Given the description of an element on the screen output the (x, y) to click on. 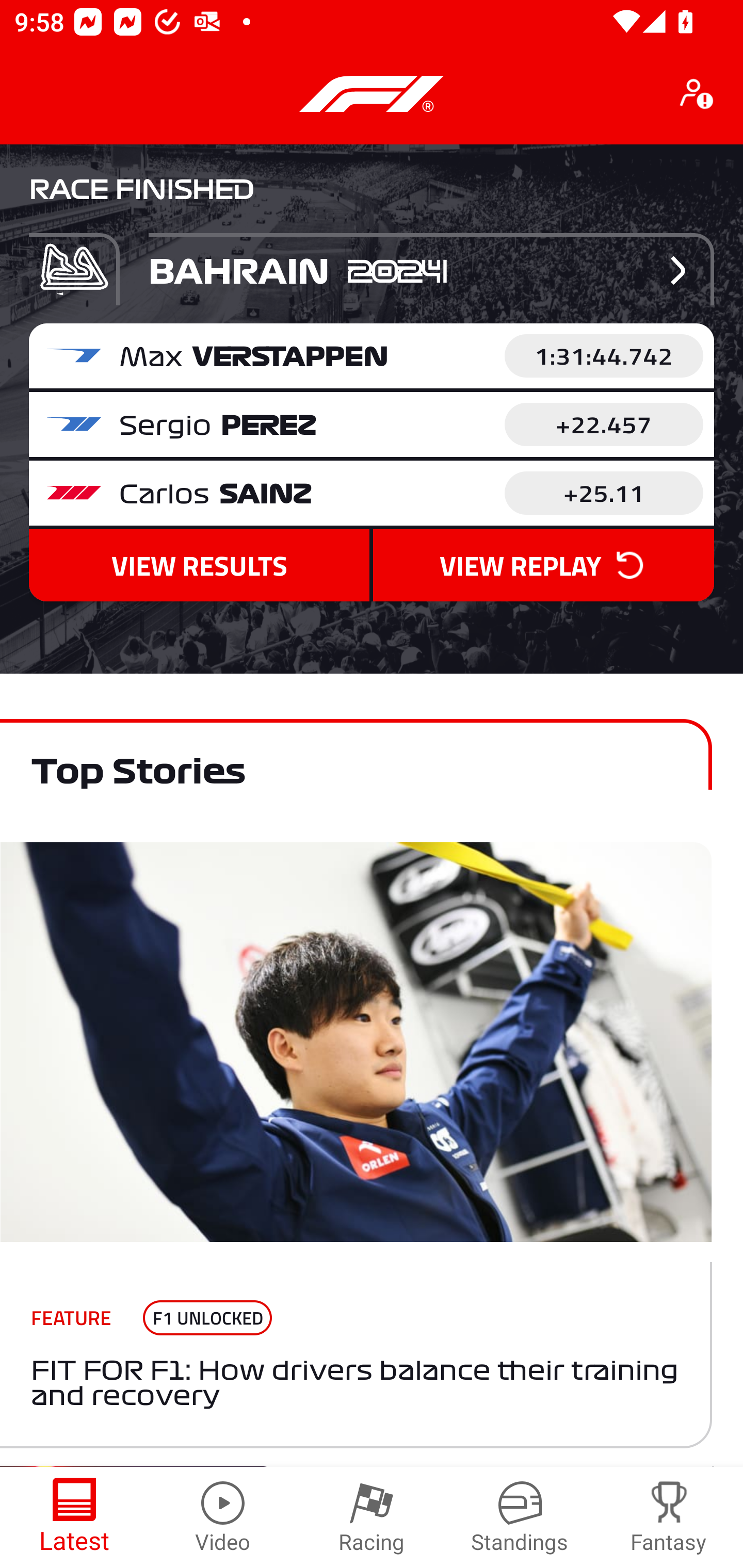
VIEW RESULTS (198, 565)
VIEW REPLAY (543, 565)
Video (222, 1517)
Racing (371, 1517)
Standings (519, 1517)
Fantasy (668, 1517)
